Given the description of an element on the screen output the (x, y) to click on. 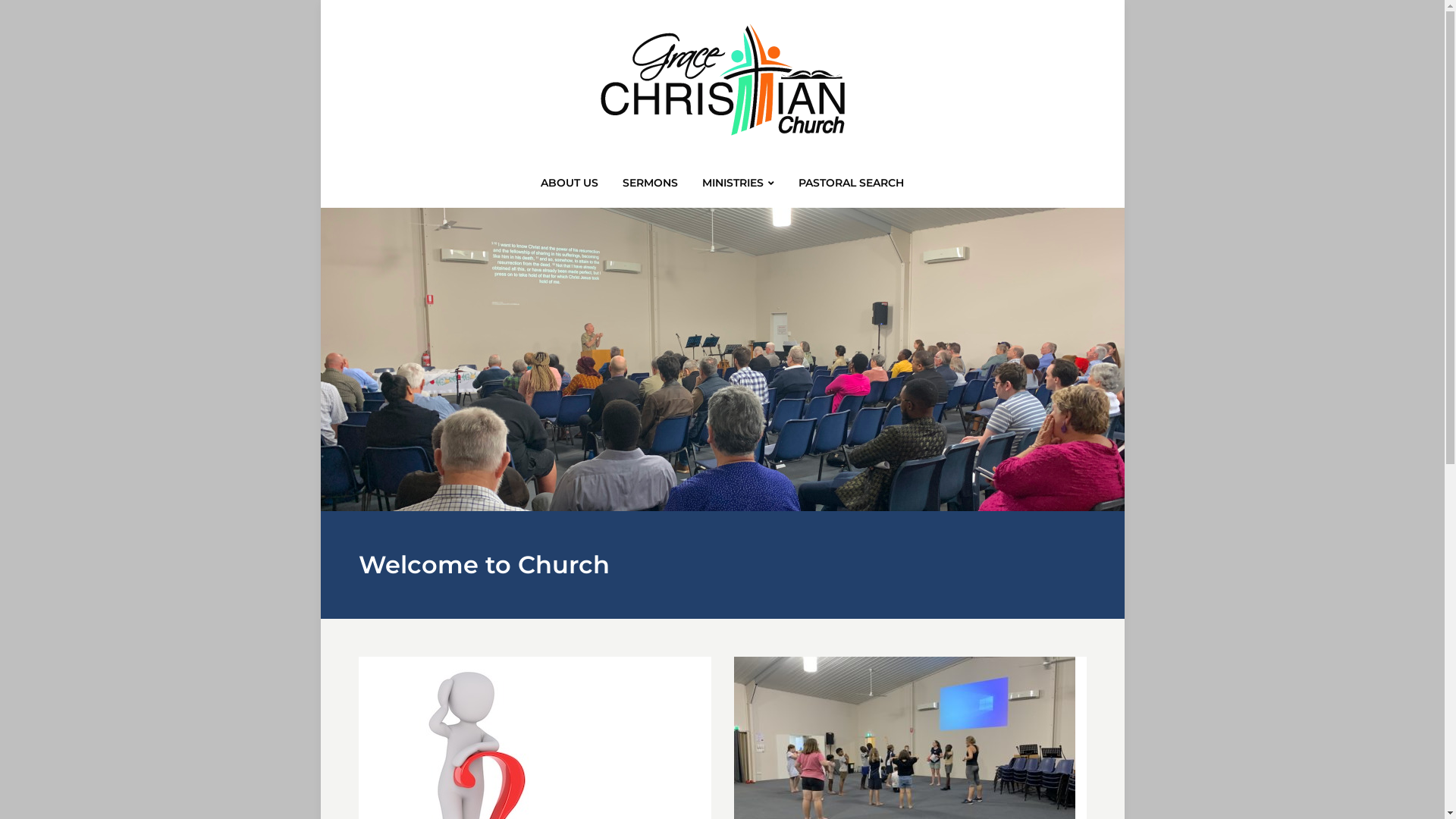
MINISTRIES Element type: text (738, 187)
ABOUT US Element type: text (569, 187)
SERMONS Element type: text (649, 187)
PASTORAL SEARCH Element type: text (850, 187)
